Given the description of an element on the screen output the (x, y) to click on. 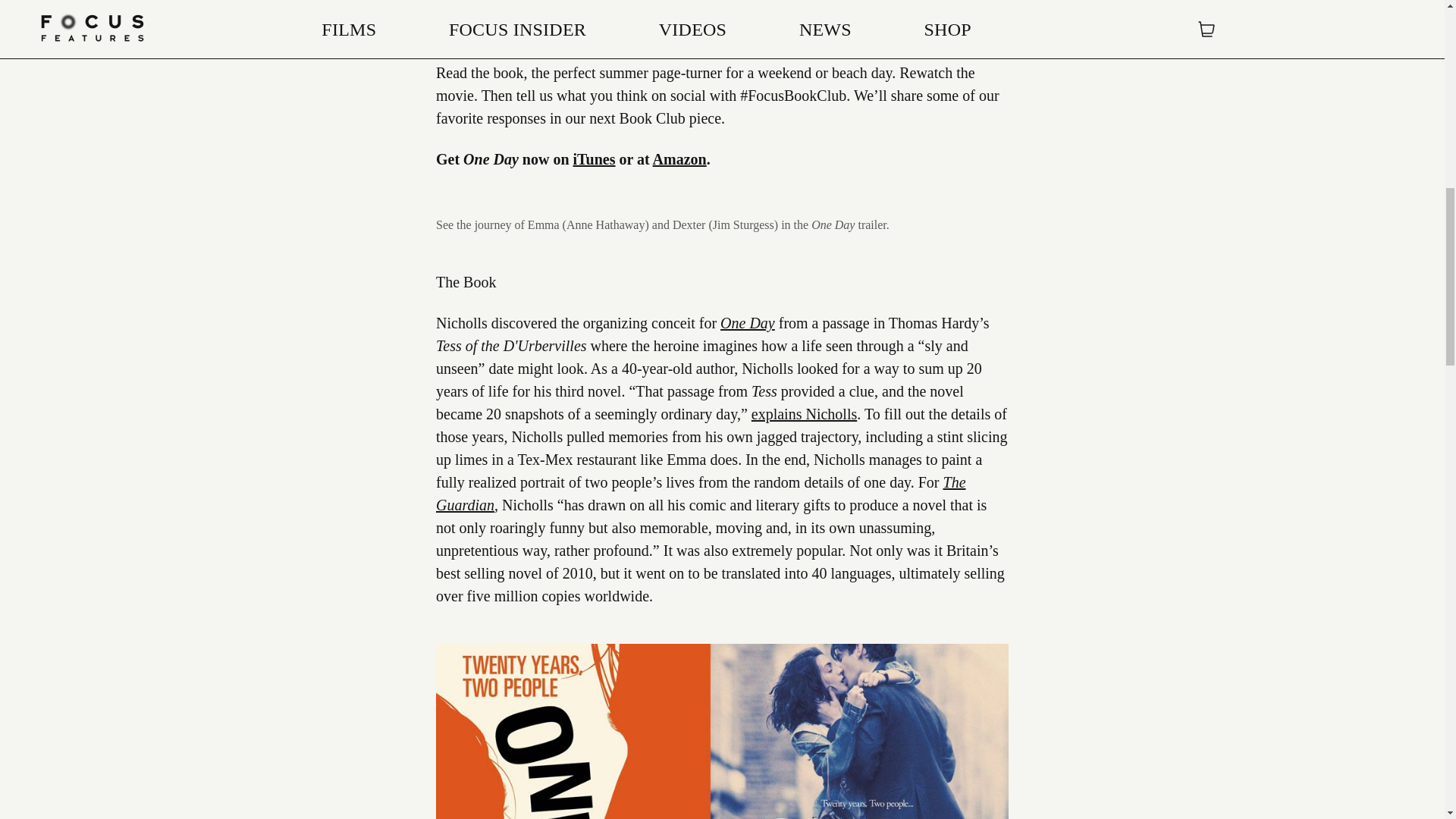
One Day (747, 322)
iTunes (594, 158)
explains Nicholls (804, 413)
The Guardian (700, 493)
Amazon (679, 158)
